Given the description of an element on the screen output the (x, y) to click on. 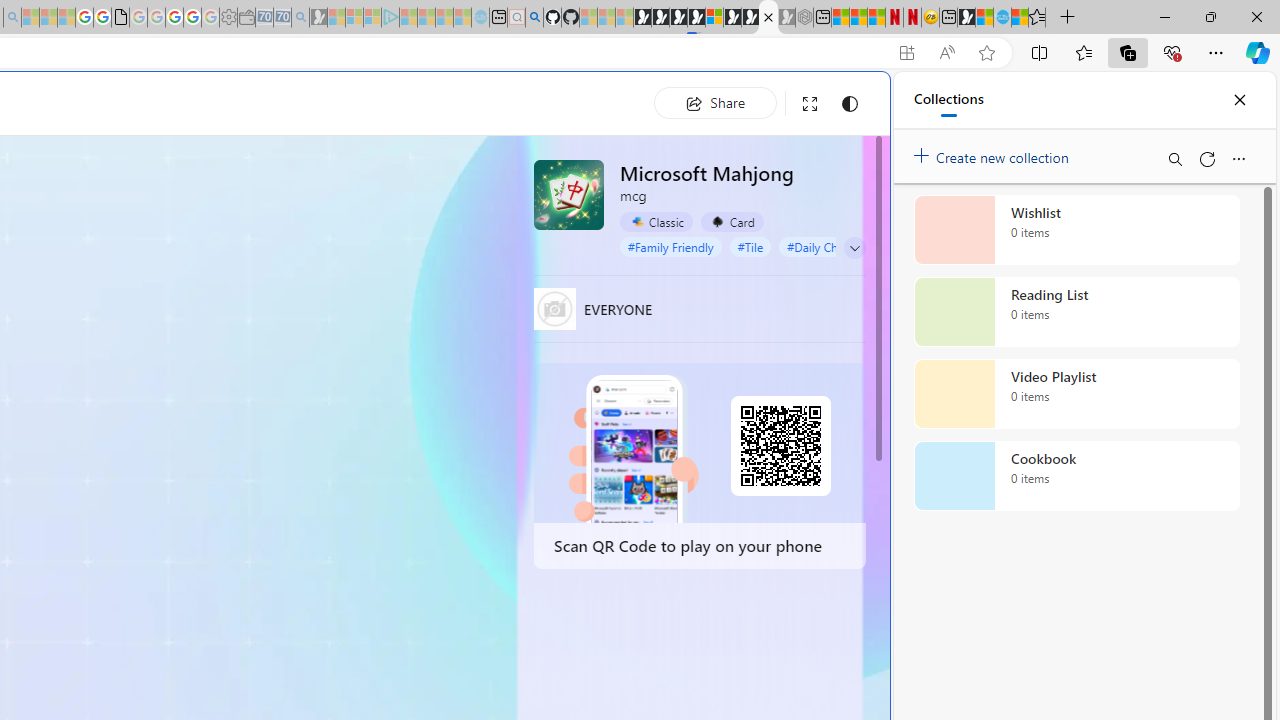
Services - Maintenance | Sky Blue Bikes - Sky Blue Bikes (1002, 17)
Play Cave FRVR in your browser | Games from Microsoft Start (678, 17)
Card (732, 221)
Play Cave FRVR in your browser | Games from Microsoft Start (343, 426)
More options menu (1238, 158)
